Given the description of an element on the screen output the (x, y) to click on. 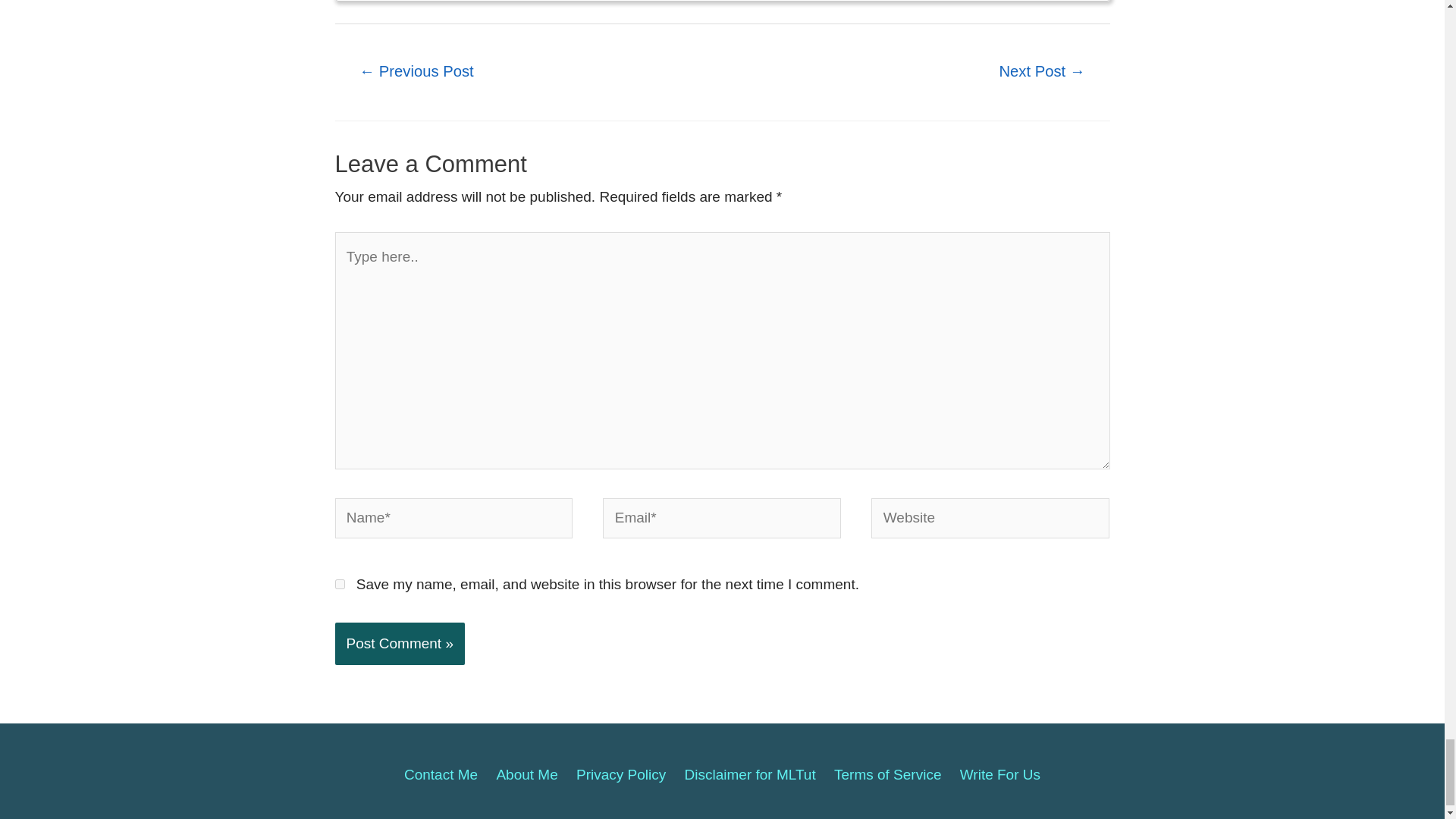
yes (339, 583)
